Given the description of an element on the screen output the (x, y) to click on. 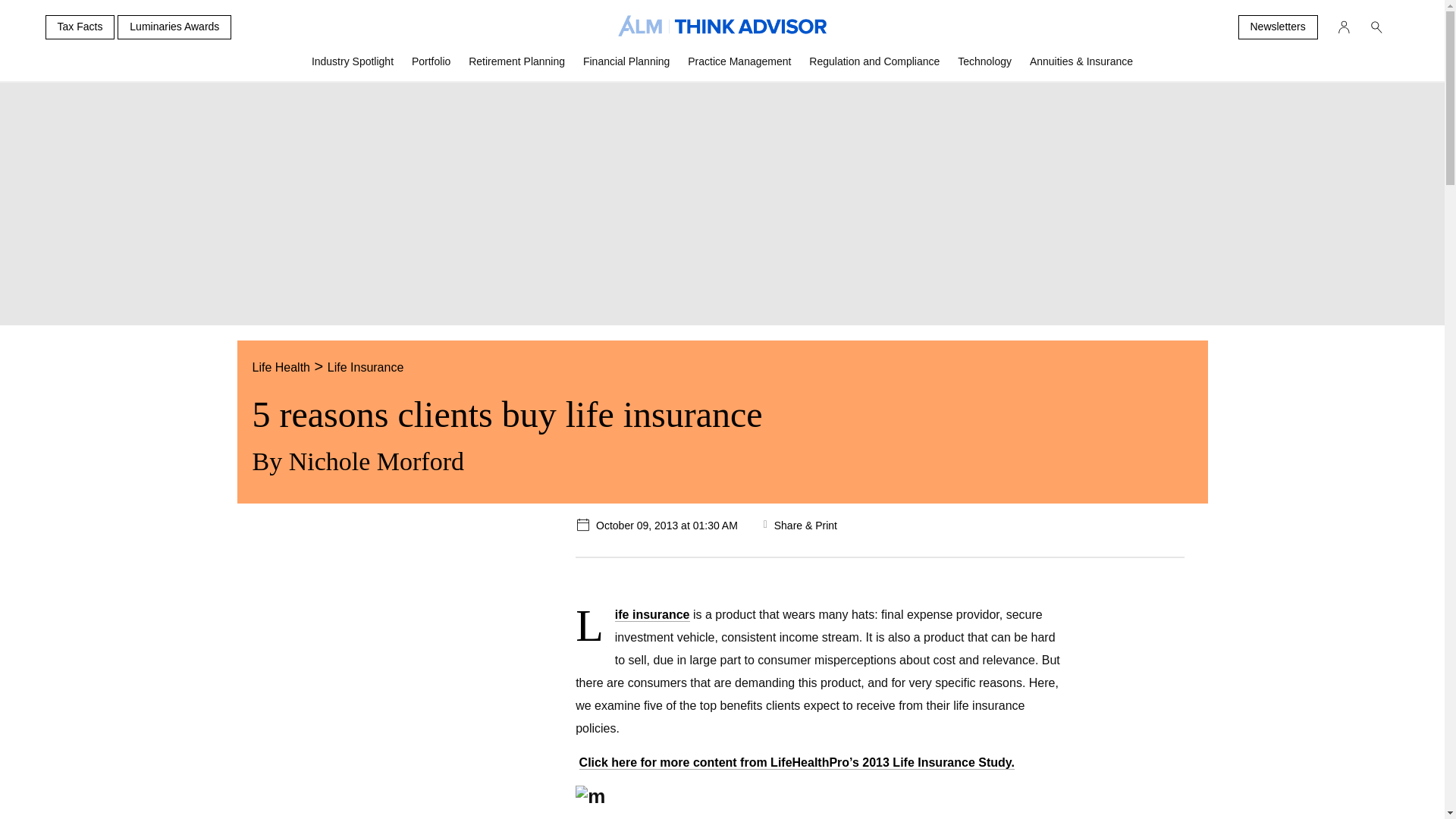
Industry Spotlight (352, 67)
Luminaries Awards (174, 27)
m (818, 796)
Tax Facts (80, 27)
Newsletters (1277, 27)
